Given the description of an element on the screen output the (x, y) to click on. 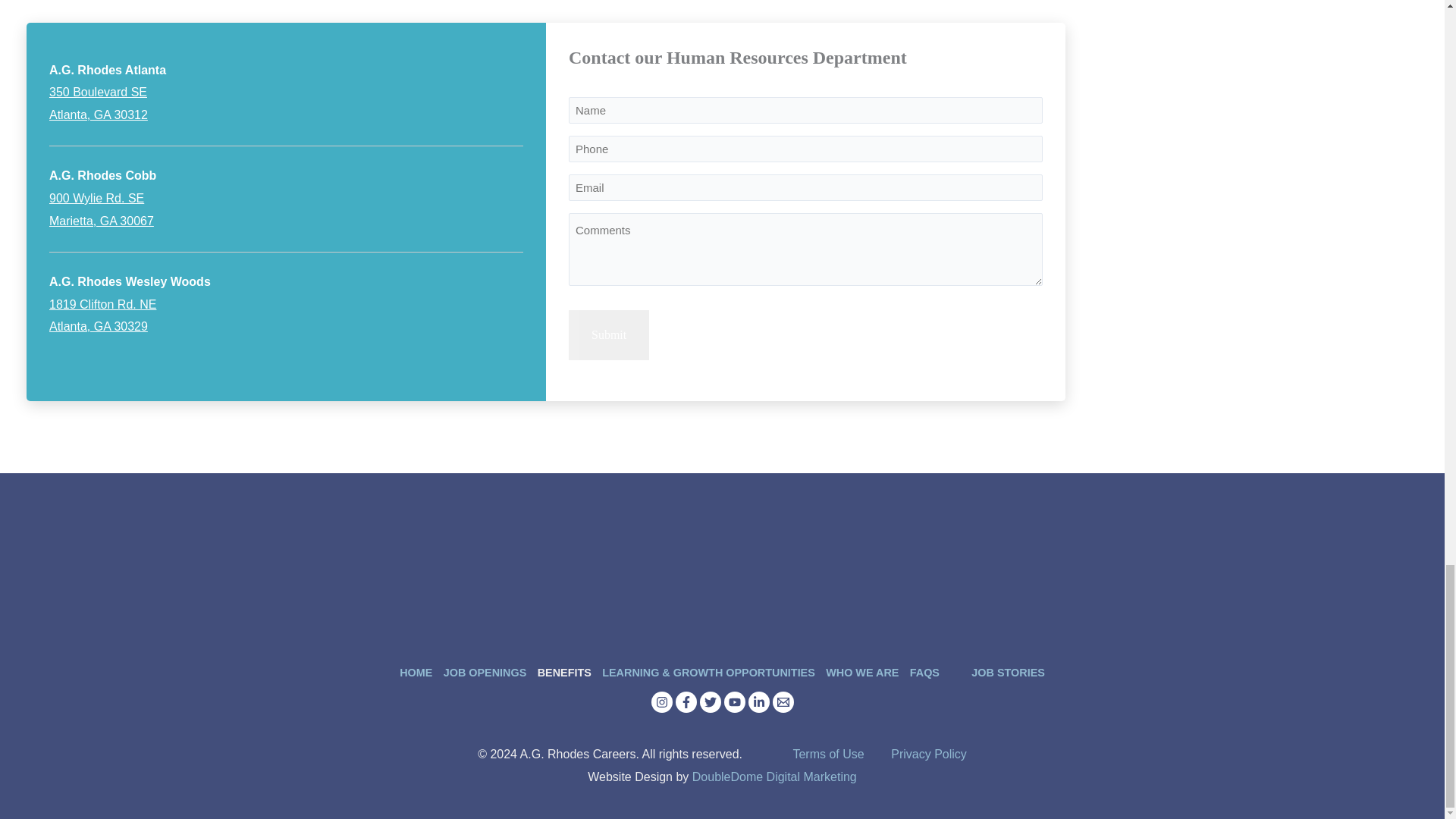
Submit (101, 209)
Submit (609, 335)
